Given the description of an element on the screen output the (x, y) to click on. 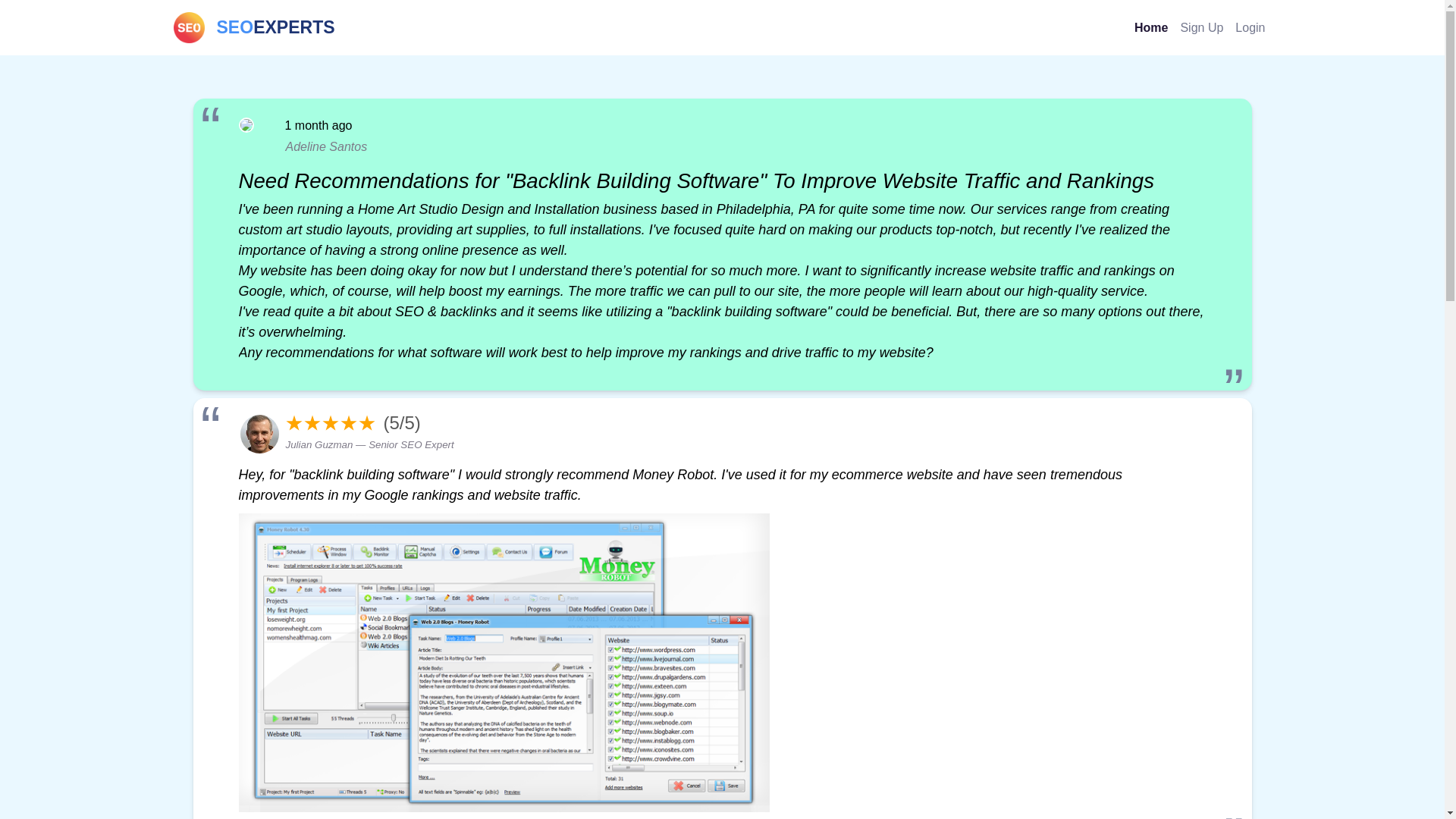
Home (253, 27)
Sign Up (1150, 27)
Login (1200, 27)
